Given the description of an element on the screen output the (x, y) to click on. 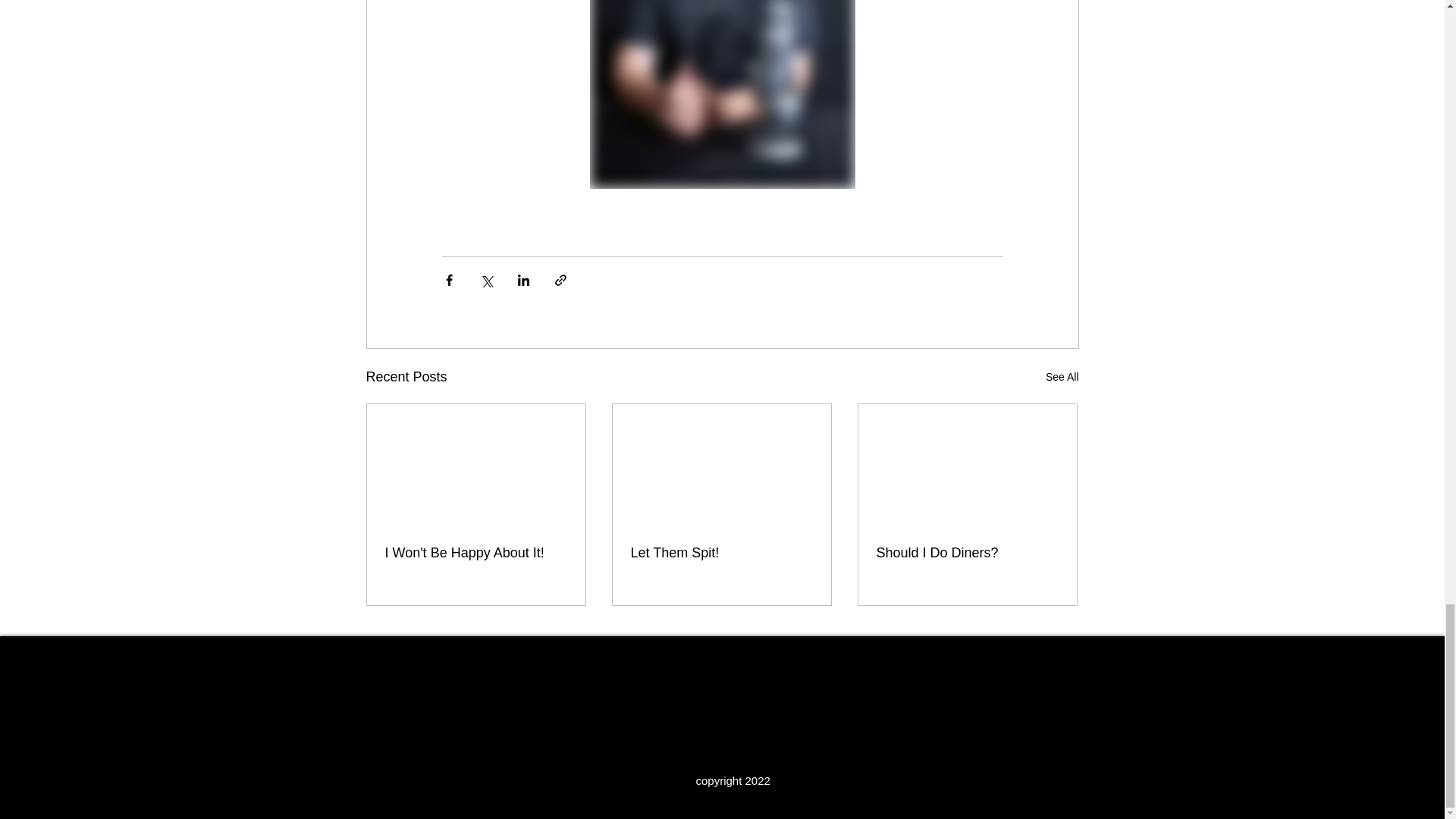
I Won't Be Happy About It! (476, 553)
See All (1061, 377)
Should I Do Diners? (967, 553)
Let Them Spit! (721, 553)
